Given the description of an element on the screen output the (x, y) to click on. 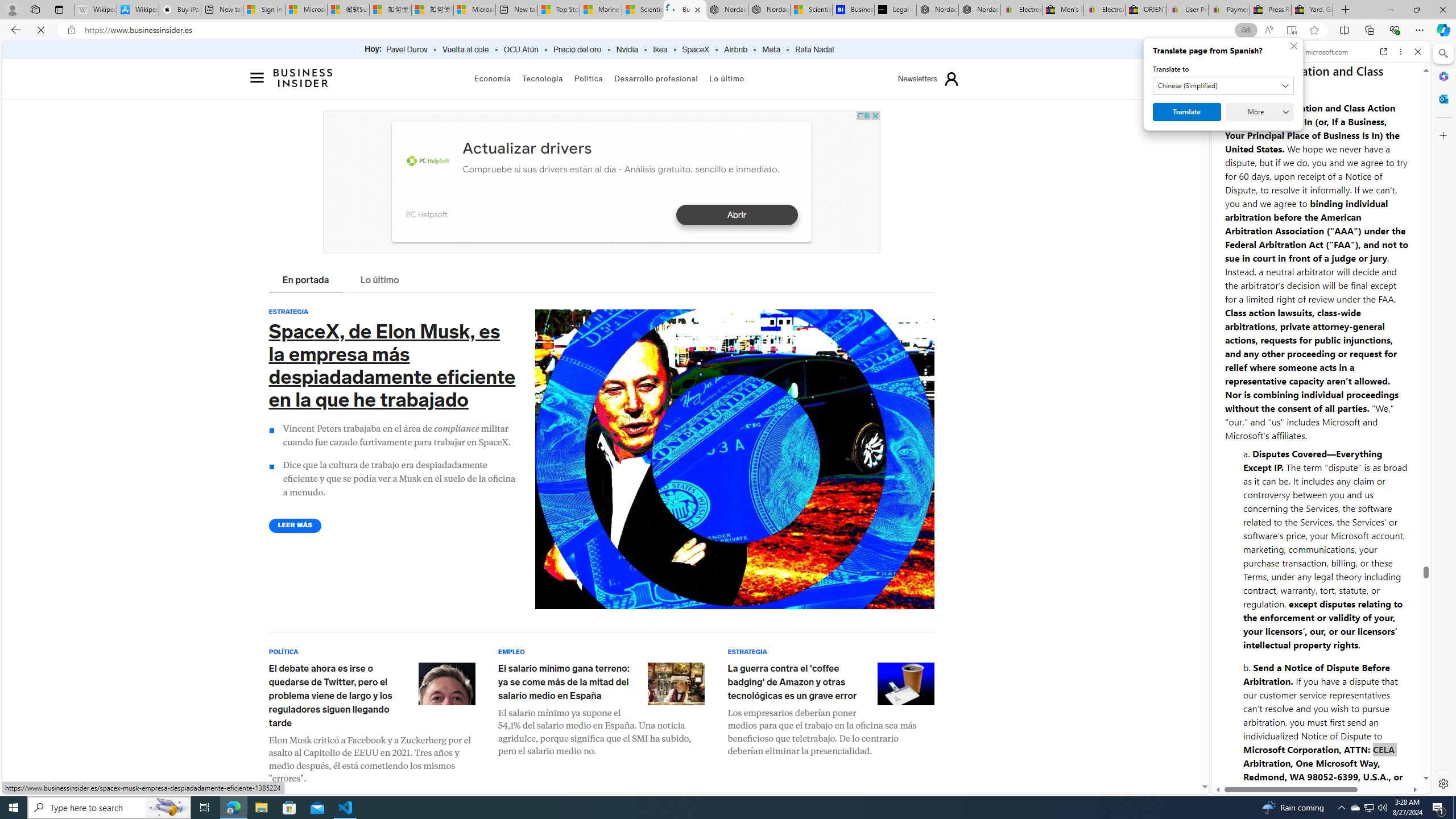
Airbnb (735, 49)
Press Room - eBay Inc. (1269, 9)
PC Helpsoft (427, 161)
Newsletters (916, 78)
